Given the description of an element on the screen output the (x, y) to click on. 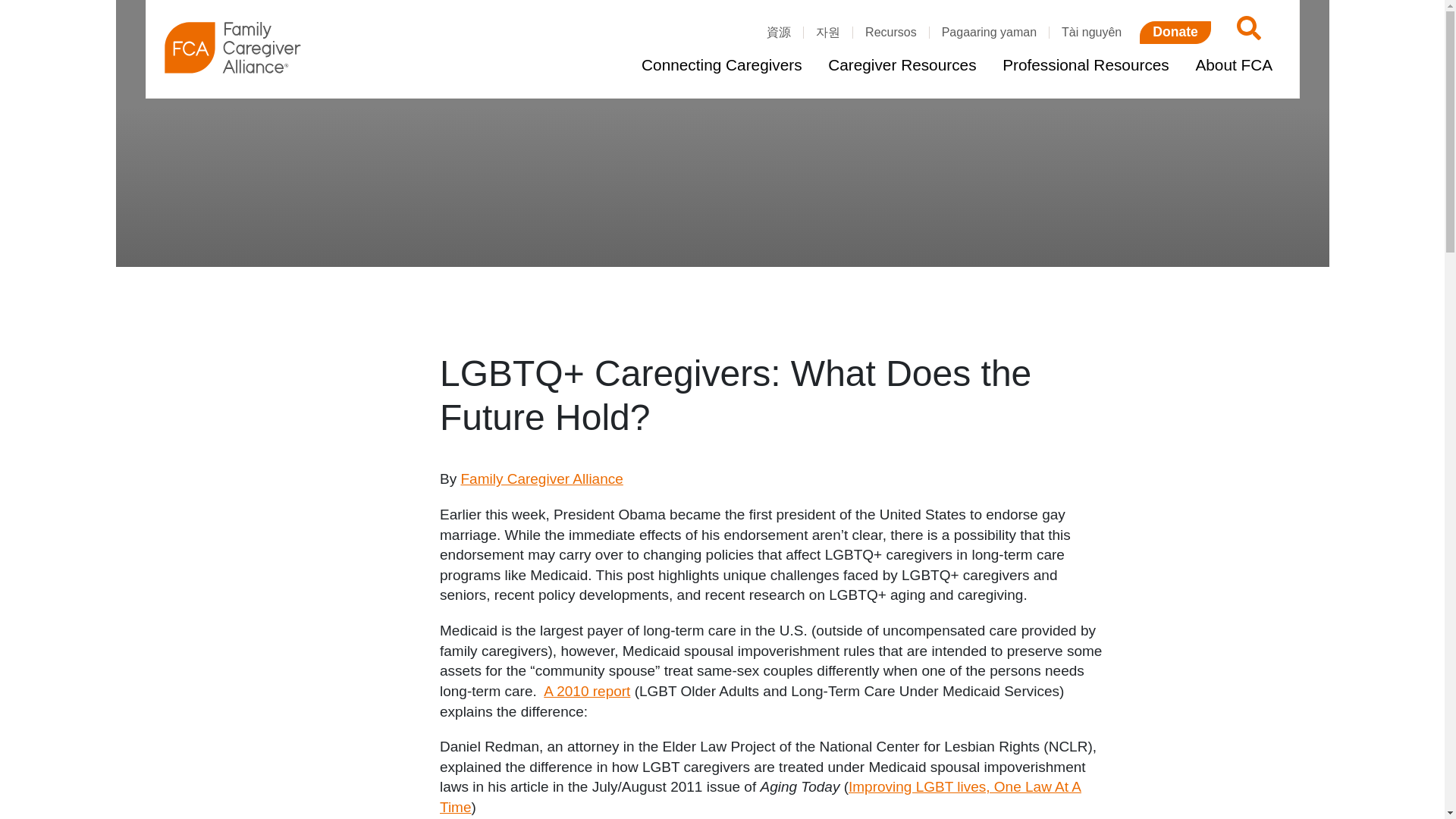
About FCA (1233, 65)
Family Caregiver Alliance Website (541, 478)
Search (1246, 32)
Connecting Caregivers (721, 65)
Caregiver Resources (902, 65)
Professional Resources (1085, 65)
Improving LGBT lives, One Law At A Time (760, 796)
Recursos (890, 32)
LGBT Older Adults and Long-Term Care Under Medicaid (586, 691)
